Given the description of an element on the screen output the (x, y) to click on. 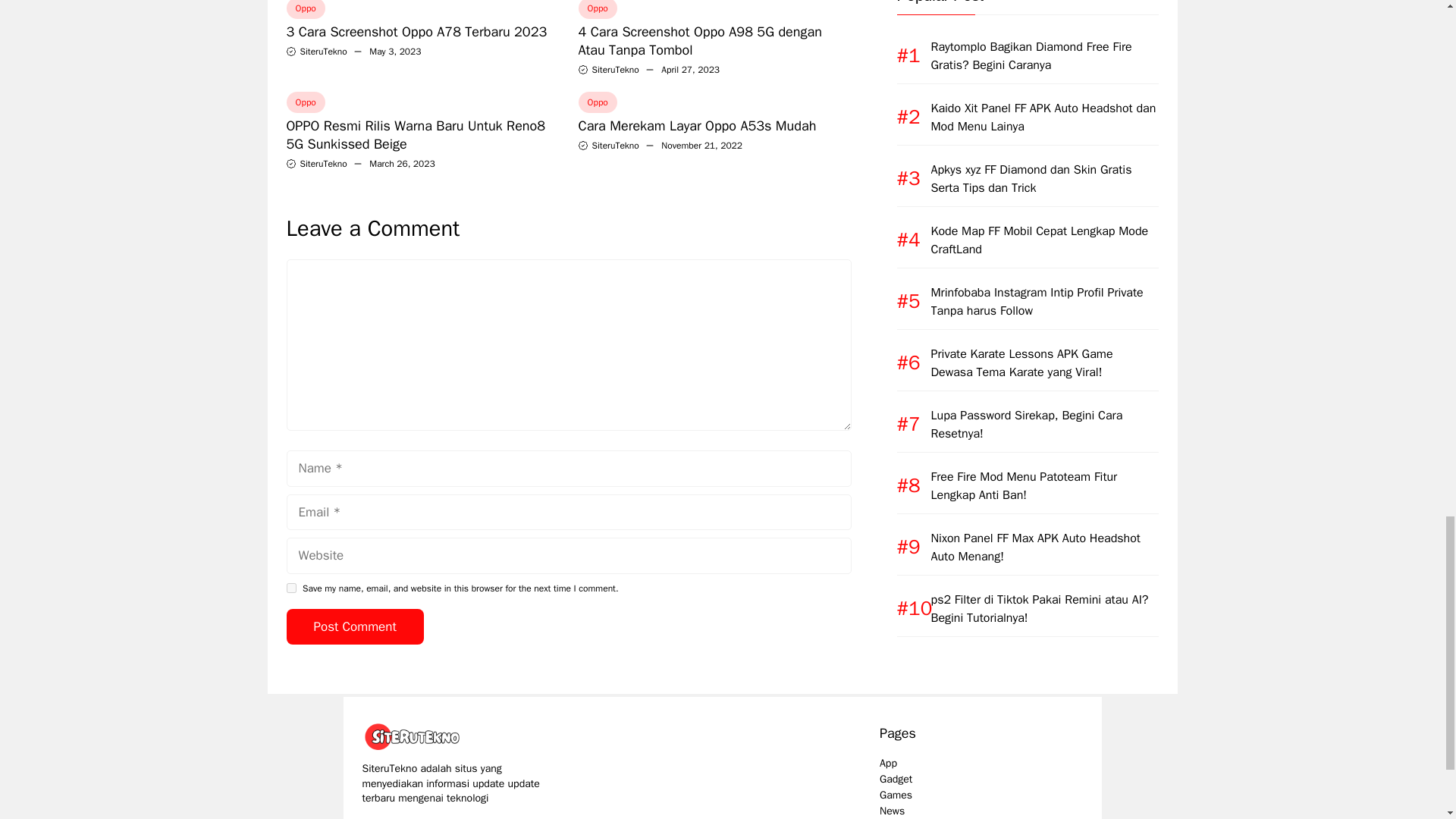
3 Cara Screenshot Oppo A78 Terbaru 2023 (416, 31)
Oppo (596, 102)
Cara Merekam Layar Oppo A53s Mudah (696, 125)
Post Comment (354, 627)
SiteruTekno (615, 69)
SiteruTekno (323, 163)
Oppo (305, 9)
SiteruTekno.com (415, 736)
4 Cara Screenshot Oppo A98 5G dengan Atau Tanpa Tombol (699, 40)
yes (291, 587)
OPPO Resmi Rilis Warna Baru Untuk Reno8 5G Sunkissed Beige (416, 134)
SiteruTekno (323, 51)
SiteruTekno (615, 145)
Post Comment (354, 627)
Oppo (596, 9)
